Given the description of an element on the screen output the (x, y) to click on. 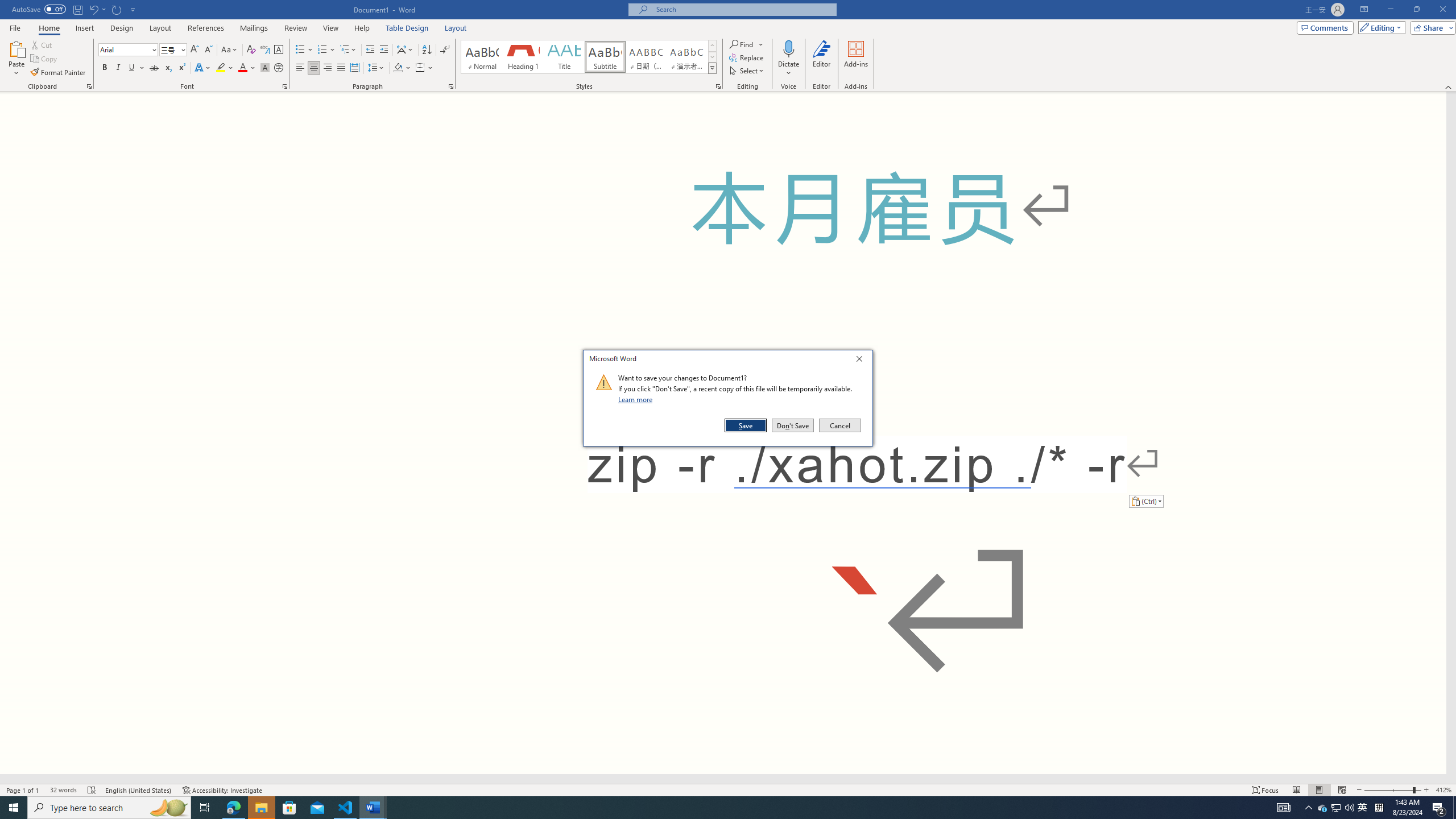
Subtitle (605, 56)
Start (13, 807)
AutomationID: QuickStylesGallery (588, 56)
Action: Paste alternatives (1145, 500)
Character Border (278, 49)
Action Center, 2 new notifications (1439, 807)
Copy (45, 58)
Text Effects and Typography (202, 67)
Font Color Red (241, 67)
Page Number Page 1 of 1 (22, 790)
